Given the description of an element on the screen output the (x, y) to click on. 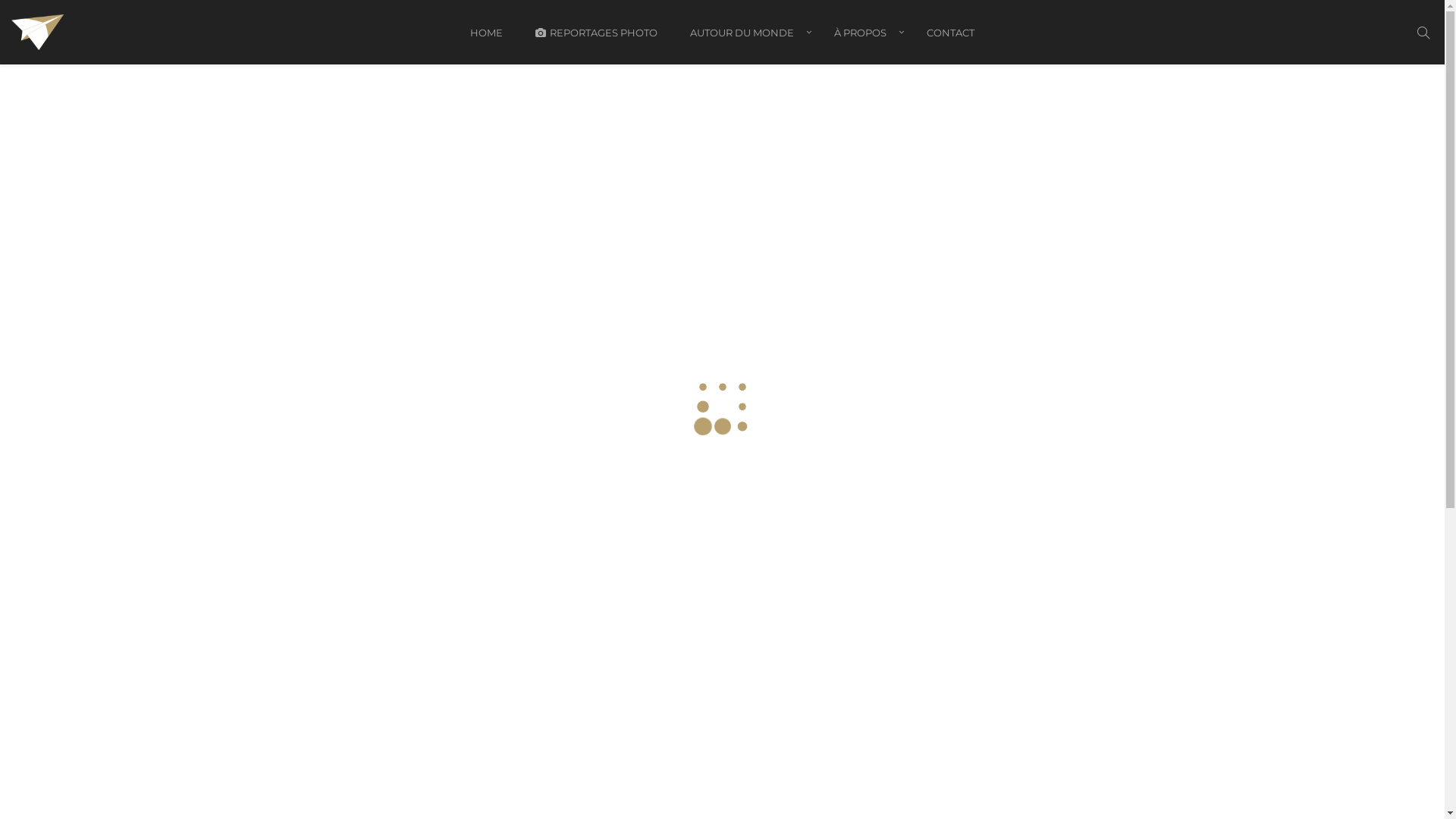
AUTOUR DU MONDE Element type: text (745, 43)
HOME Element type: text (486, 43)
CONTACT Element type: text (950, 43)
REPORTAGES PHOTO Element type: text (596, 43)
France Element type: text (459, 381)
Justine Element type: text (396, 381)
0 Element type: text (550, 578)
